Given the description of an element on the screen output the (x, y) to click on. 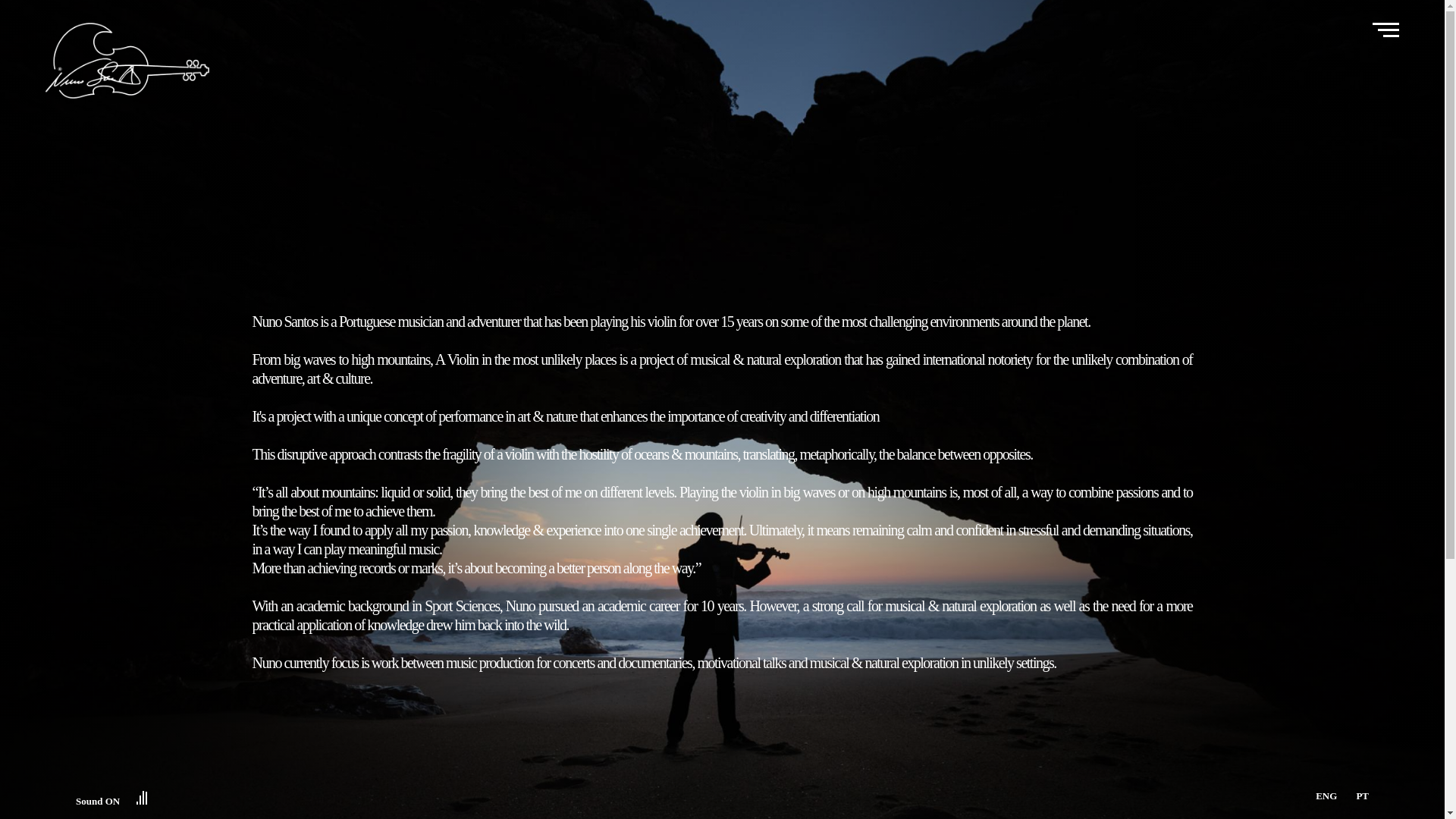
Sound ON (111, 797)
PT (1361, 795)
ENG (1326, 795)
